Given the description of an element on the screen output the (x, y) to click on. 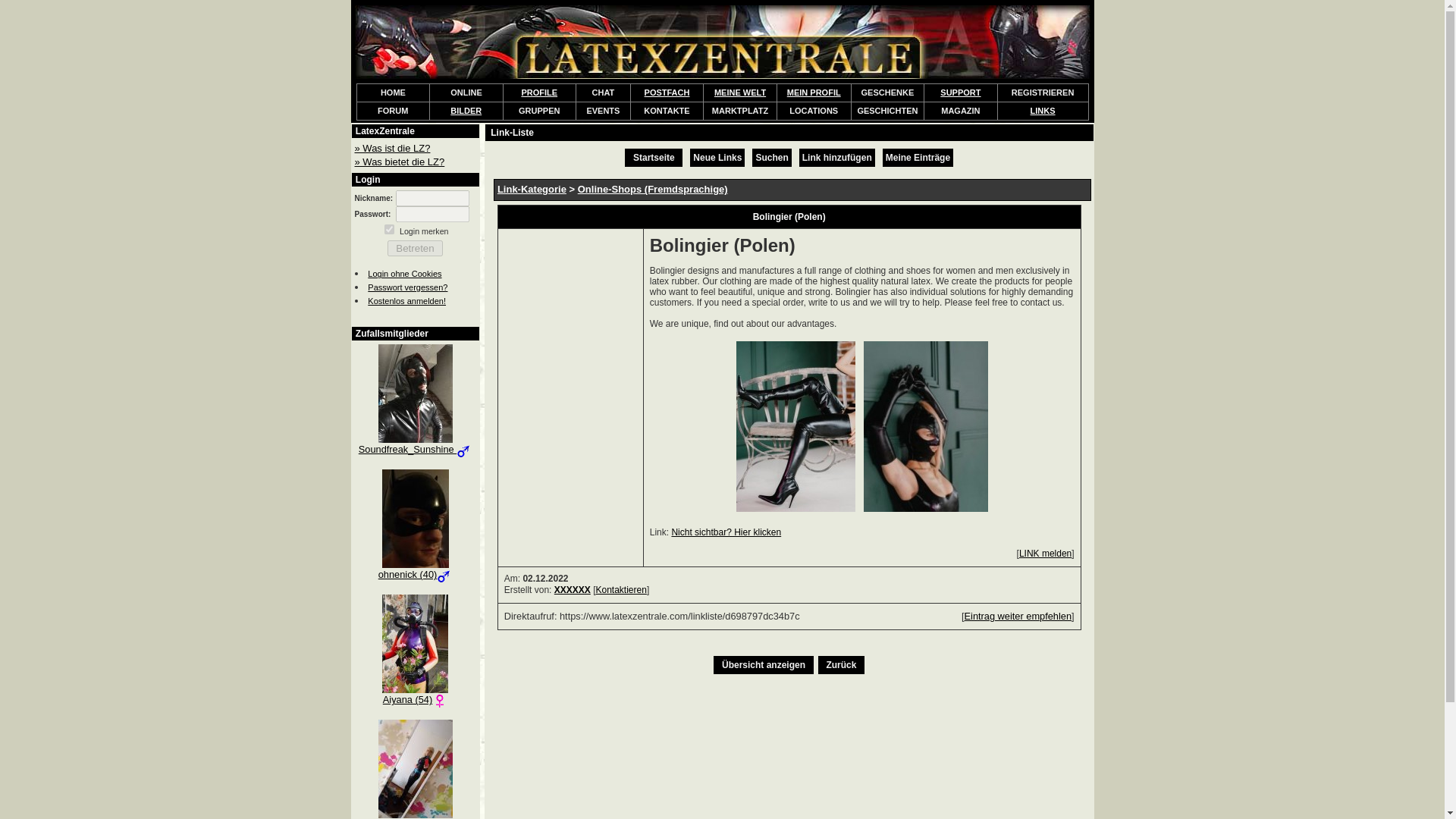
EVENTS (603, 110)
PROFILE (539, 92)
GRUPPEN (538, 110)
LINKS (1042, 110)
GESCHENKE (887, 91)
Kostenlos anmelden! (406, 300)
KONTAKTE (665, 110)
Neue Links (717, 157)
GESCHICHTEN (887, 110)
FORUM (392, 110)
ONLINE (465, 91)
Passwort vergessen? (407, 286)
POSTFACH (667, 92)
 Betreten  (415, 248)
Suchen (771, 157)
